Given the description of an element on the screen output the (x, y) to click on. 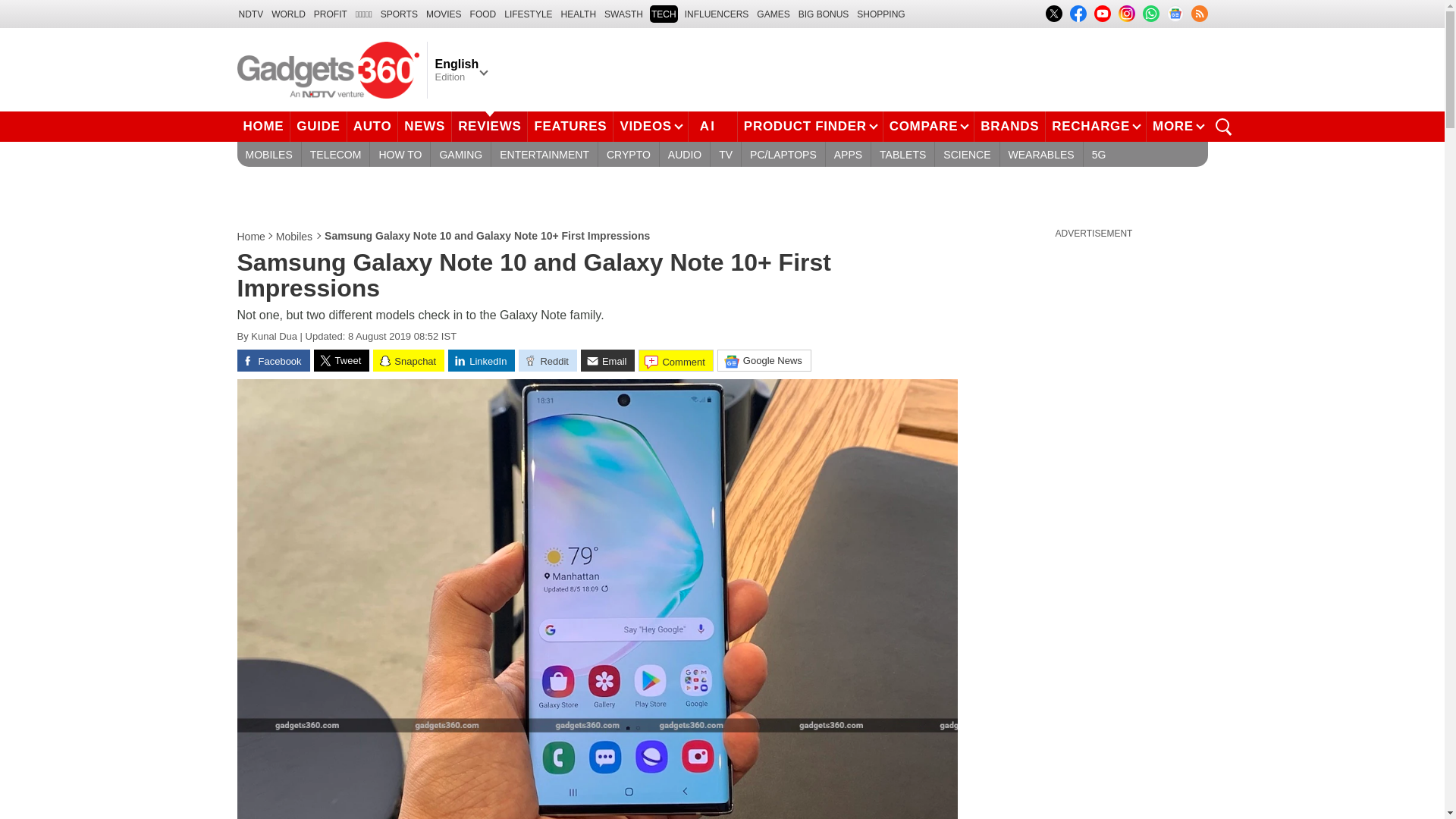
SPORTS (398, 13)
NDTV (249, 13)
LIFESTYLE (527, 13)
HEALTH (577, 13)
WORLD (288, 13)
VIDEOS (649, 126)
HEALTH (577, 13)
FEATURES (569, 126)
NEWS (424, 126)
SHOPPING (880, 13)
